Given the description of an element on the screen output the (x, y) to click on. 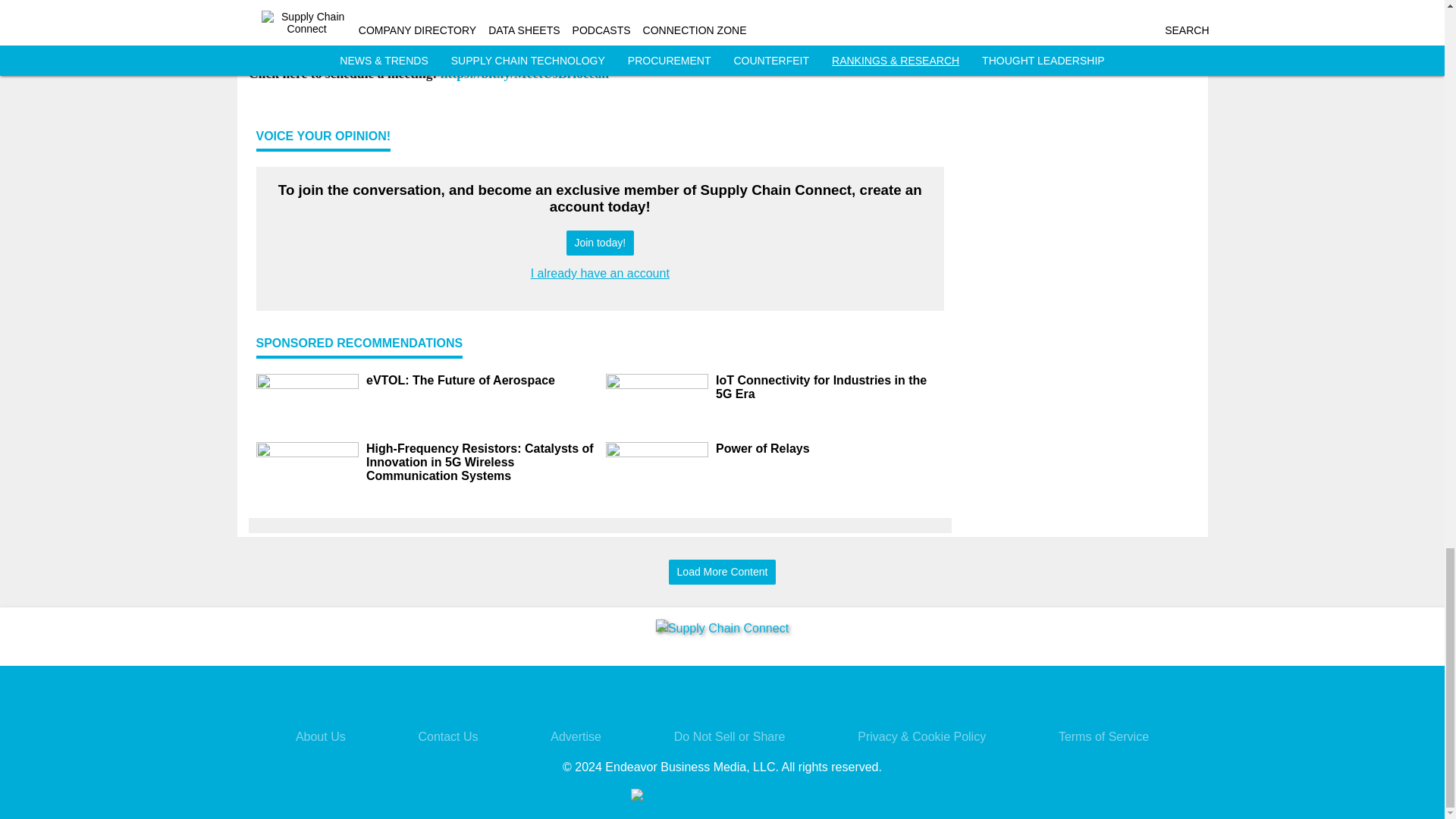
Briocean Hall Pic (600, 6)
Join today! (599, 242)
eVTOL: The Future of Aerospace (479, 380)
I already have an account (600, 273)
Power of Relays (829, 448)
IoT Connectivity for Industries in the 5G Era (829, 387)
Learn More Here (298, 35)
